Given the description of an element on the screen output the (x, y) to click on. 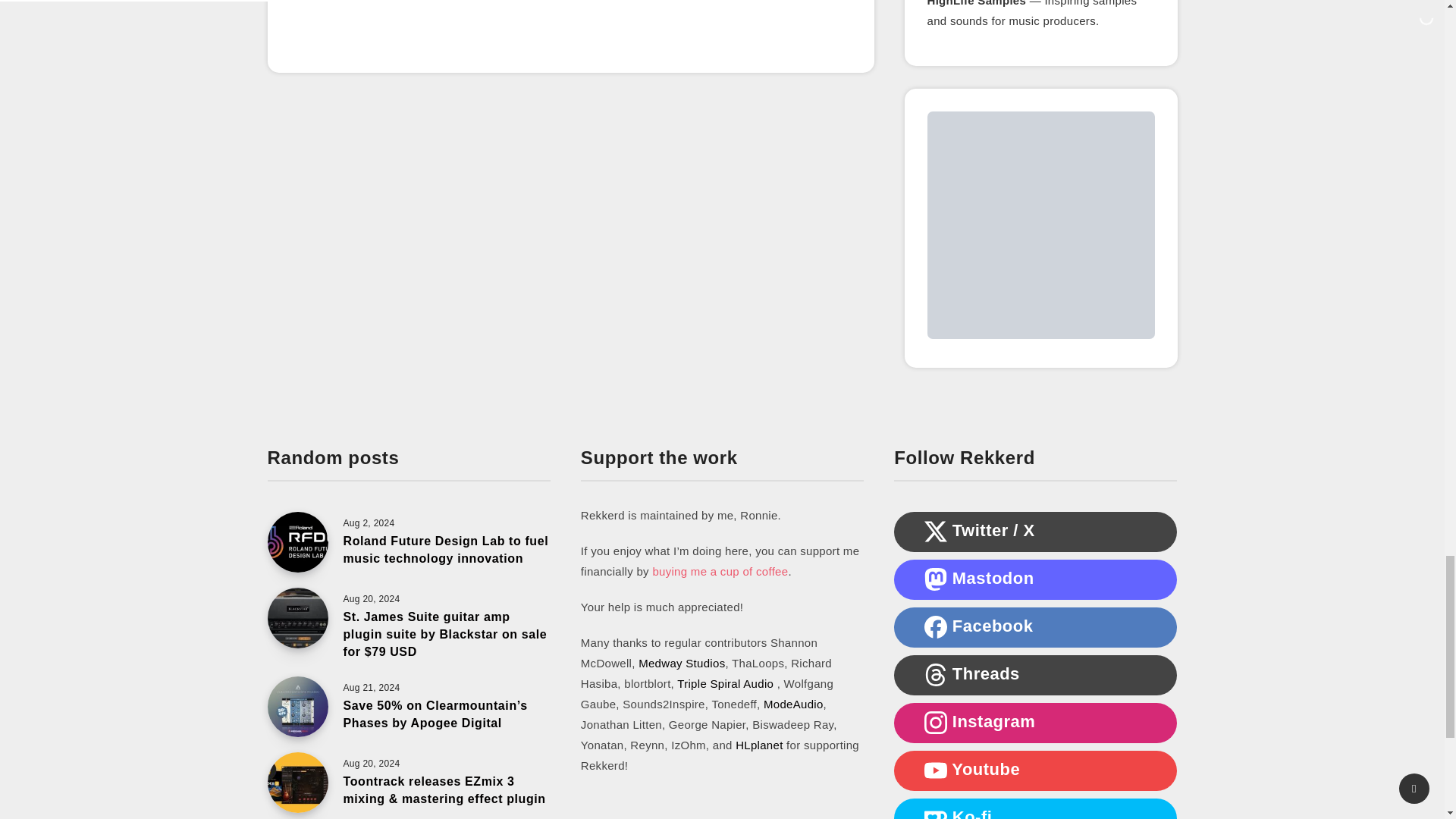
X (935, 531)
Instagram (935, 722)
Ko-fi (935, 812)
Facebook (935, 626)
Mastodon (935, 579)
YouTube (935, 770)
Threads (935, 674)
